Given the description of an element on the screen output the (x, y) to click on. 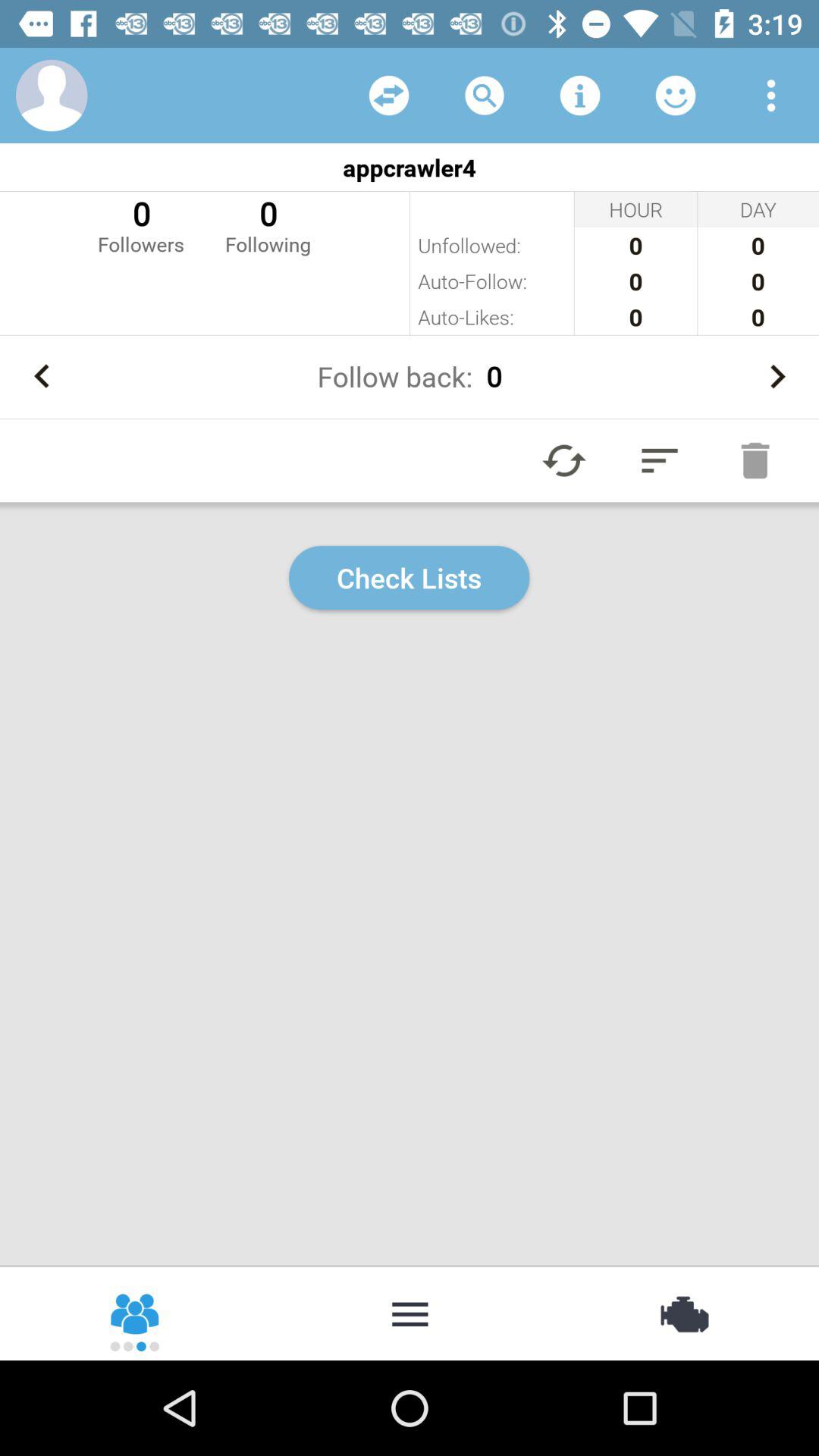
view menu (771, 95)
